Given the description of an element on the screen output the (x, y) to click on. 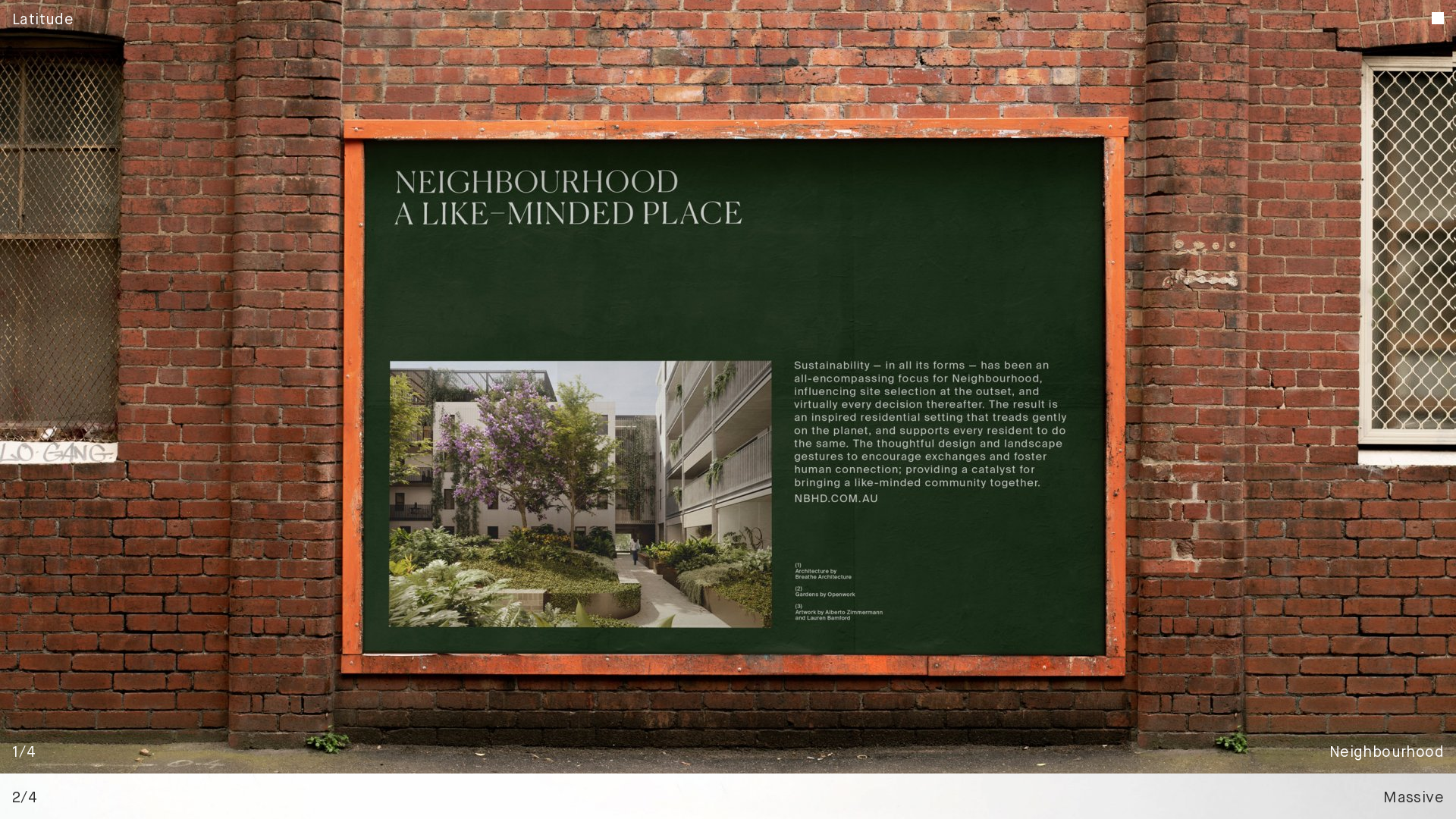
[submit] Element type: text (765, 248)
Latitude Element type: text (42, 20)
Submit Element type: text (760, 252)
